Given the description of an element on the screen output the (x, y) to click on. 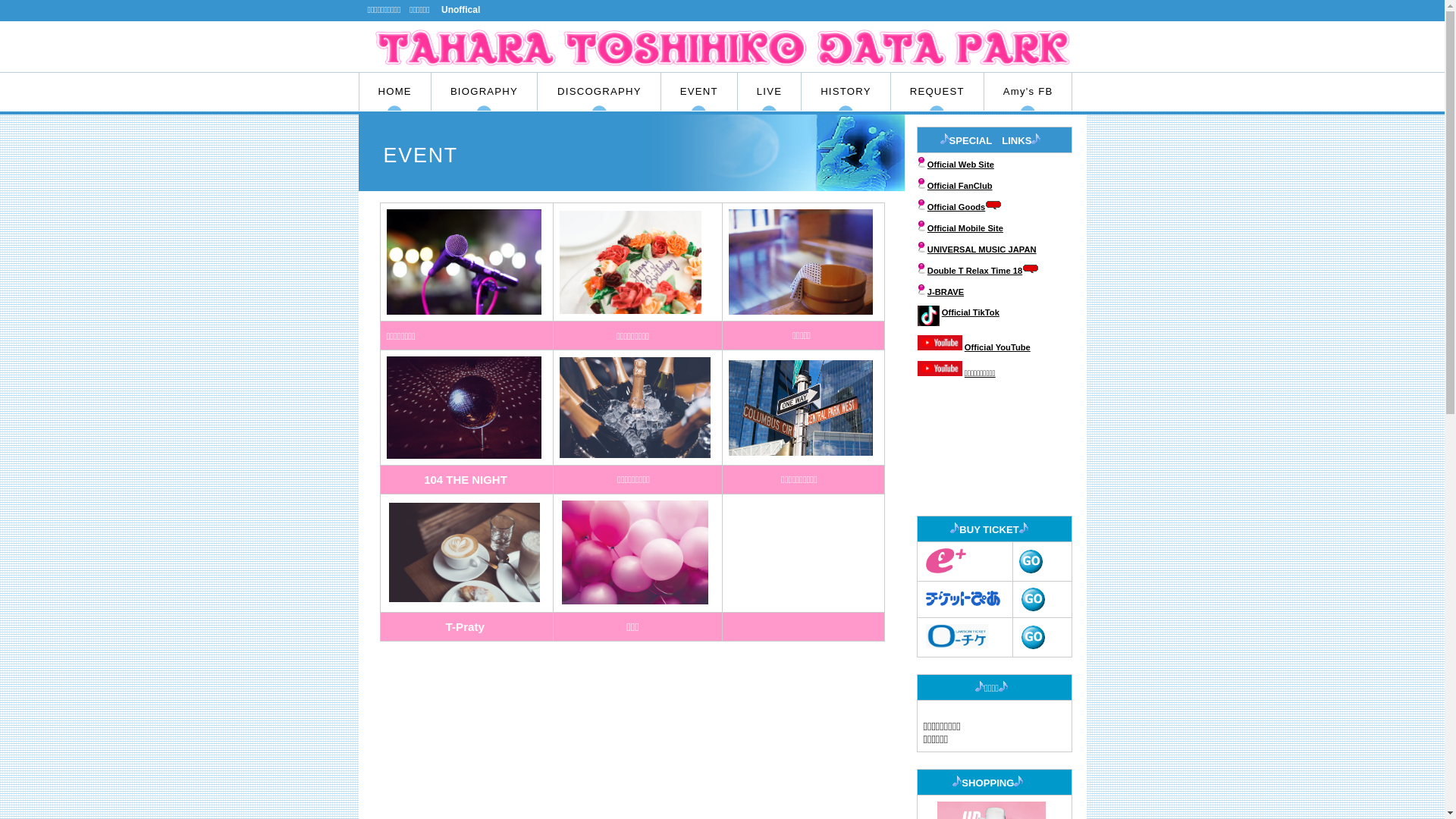
HISTORY Element type: text (845, 91)
Double T Relax Time 18 Element type: text (982, 270)
Official Goods Element type: text (956, 206)
Official TikTok Element type: text (970, 311)
LIVE Element type: text (768, 91)
BIOGRAPHY Element type: text (483, 91)
Official YouTube Element type: text (997, 346)
HOME Element type: text (394, 91)
J-BRAVE Element type: text (945, 291)
UNIVERSAL MUSIC JAPAN Element type: text (981, 249)
EVENT Element type: text (699, 91)
Official FanClub Element type: text (959, 185)
DISCOGRAPHY Element type: text (599, 91)
Official Mobile Site Element type: text (965, 227)
YouTube video player Element type: hover (993, 445)
Official Web Site Element type: text (960, 164)
REQUEST Element type: text (937, 91)
Amy's FB Element type: text (1028, 91)
